Given the description of an element on the screen output the (x, y) to click on. 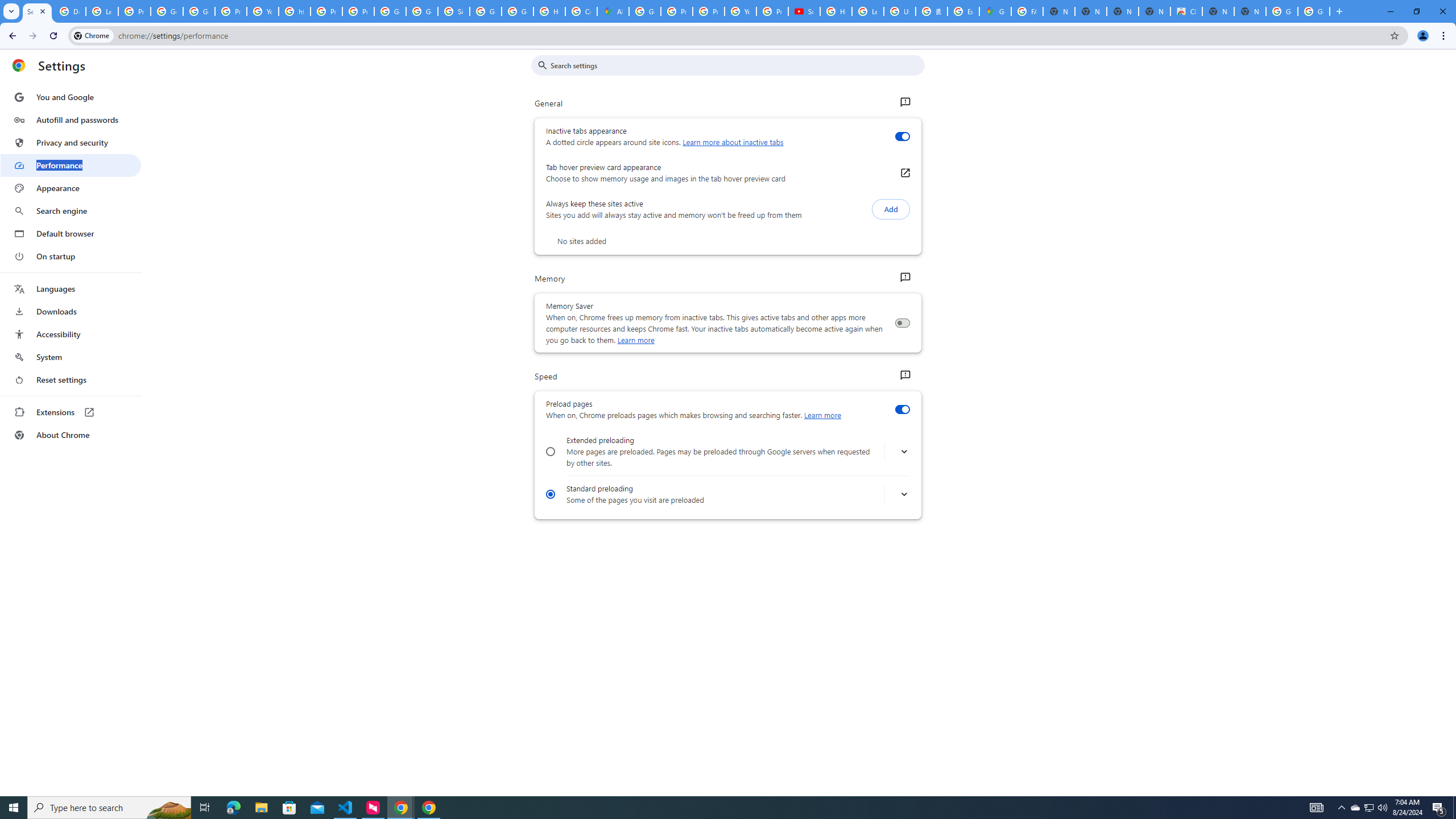
Chrome Web Store (1185, 11)
How Chrome protects your passwords - Google Chrome Help (836, 11)
About Chrome (70, 434)
Settings - Performance (37, 11)
AutomationID: menu (71, 265)
